Given the description of an element on the screen output the (x, y) to click on. 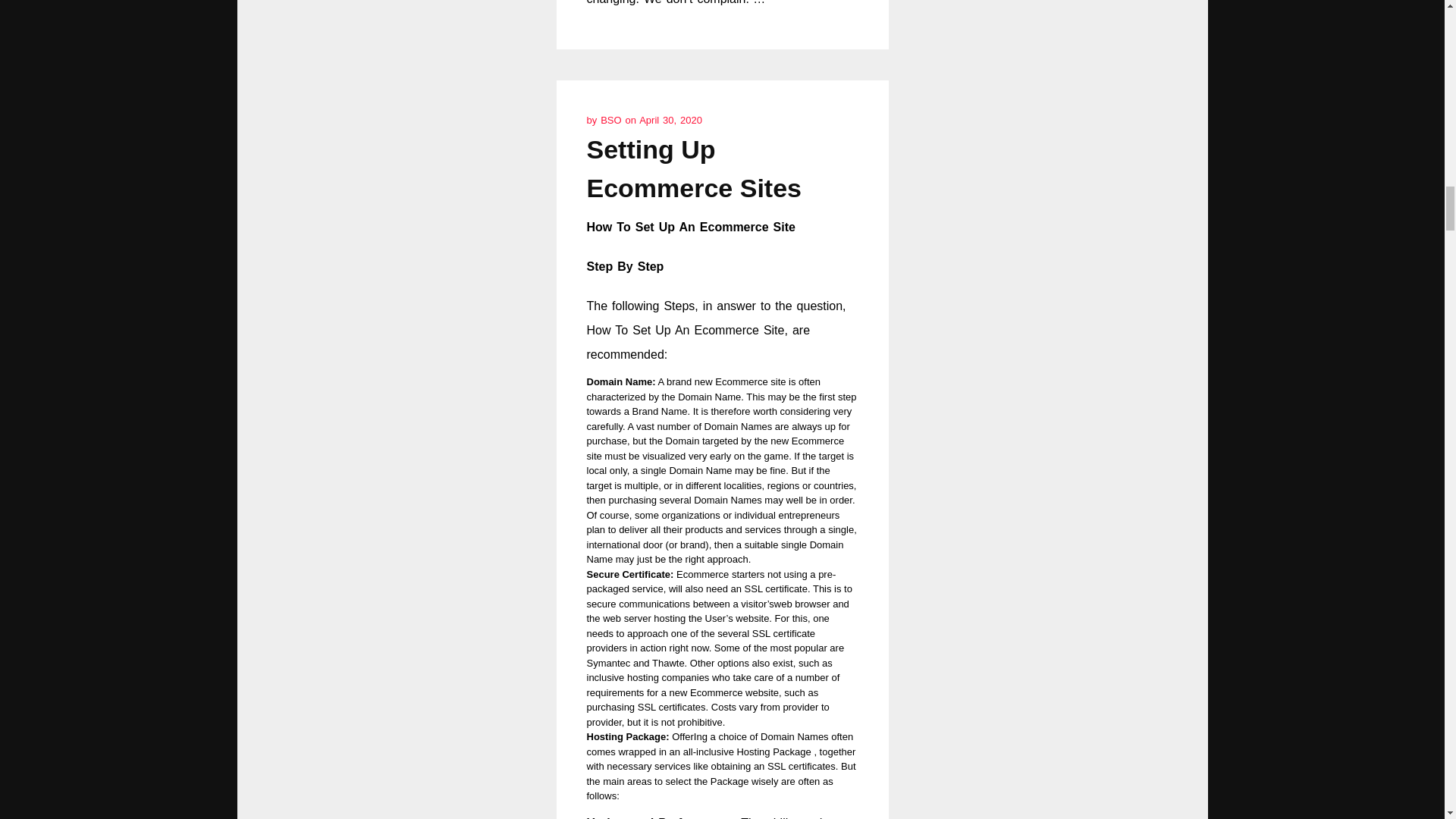
Setting Up Ecommerce Sites (694, 168)
Setting Up Ecommerce Sites (694, 168)
BSO (611, 120)
